Given the description of an element on the screen output the (x, y) to click on. 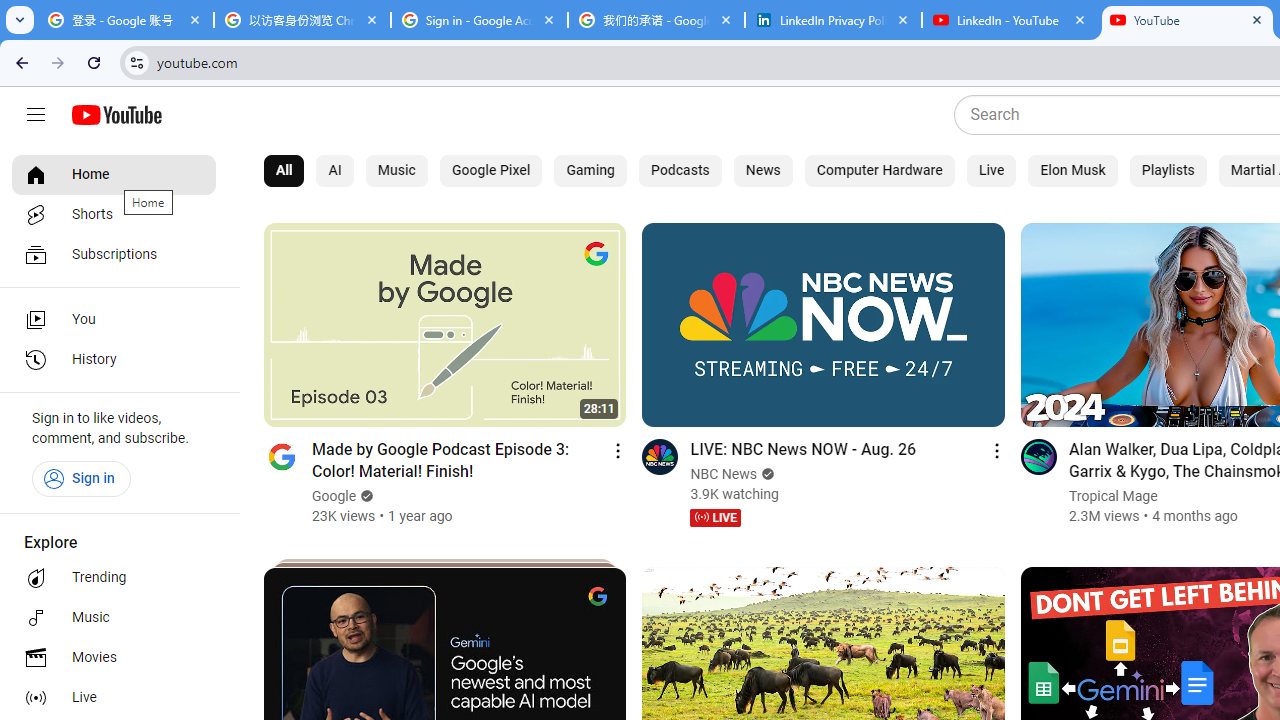
Verified (765, 474)
LIVE (715, 517)
View site information (136, 62)
Live (991, 170)
Go to channel (1038, 456)
Shorts (113, 214)
Guide (35, 115)
Live (113, 697)
All (283, 170)
Gaming (591, 170)
Music (113, 617)
Google (335, 496)
